Given the description of an element on the screen output the (x, y) to click on. 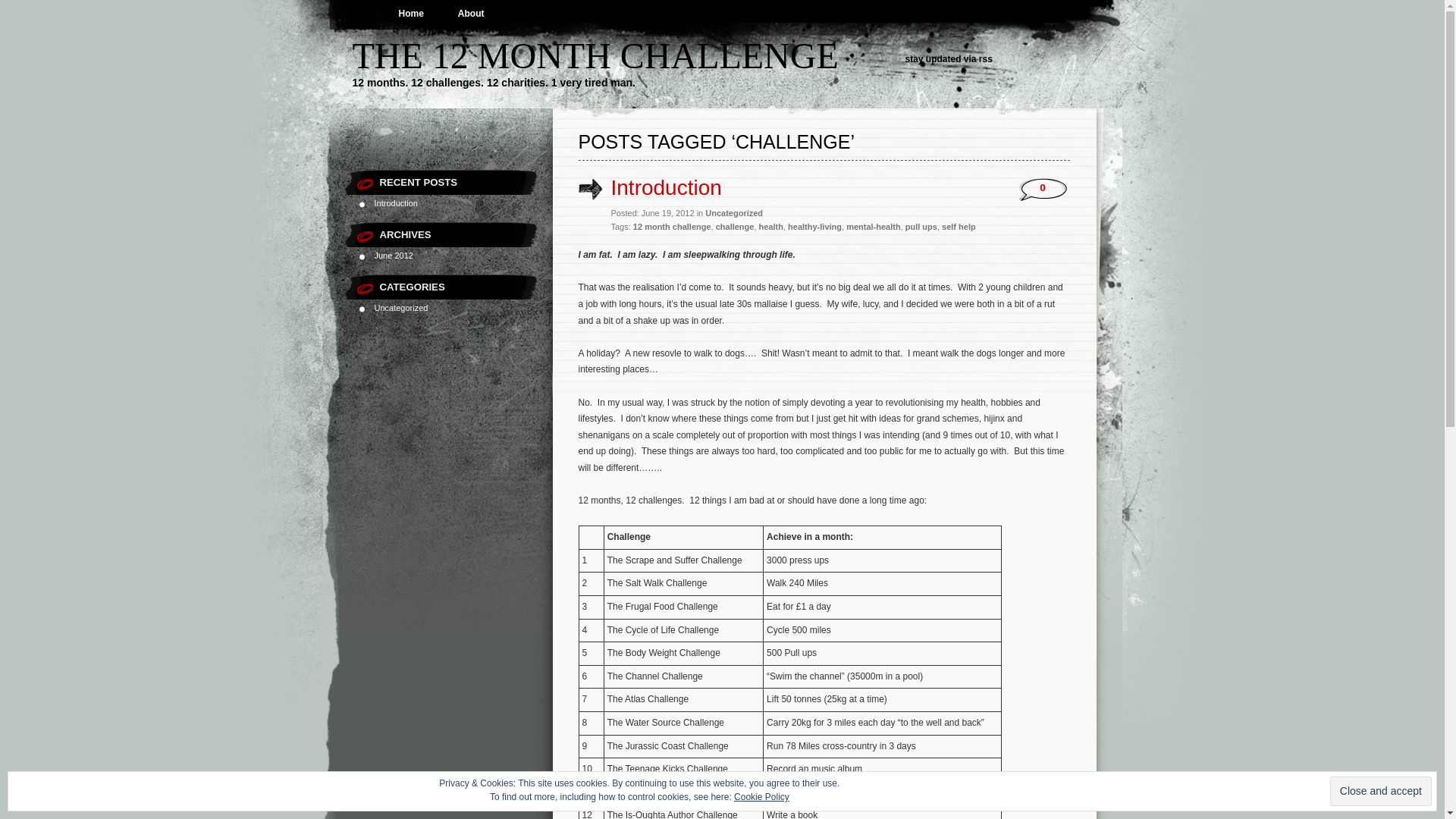
0 Element type: text (1042, 187)
mental-health Element type: text (873, 226)
Uncategorized Element type: text (733, 212)
pull ups Element type: text (921, 226)
Home Element type: text (411, 13)
Introduction Element type: text (666, 187)
Introduction Element type: text (395, 202)
healthy-living Element type: text (814, 226)
self help Element type: text (958, 226)
About Element type: text (471, 13)
stay updated via rss Element type: text (948, 58)
challenge Element type: text (734, 226)
THE 12 MONTH CHALLENGE Element type: text (594, 55)
June 2012 Element type: text (393, 255)
Follow Element type: text (1375, 797)
Close and accept Element type: text (1380, 791)
12 month challenge Element type: text (672, 226)
Cookie Policy Element type: text (761, 796)
Uncategorized Element type: text (401, 307)
health Element type: text (771, 226)
